Given the description of an element on the screen output the (x, y) to click on. 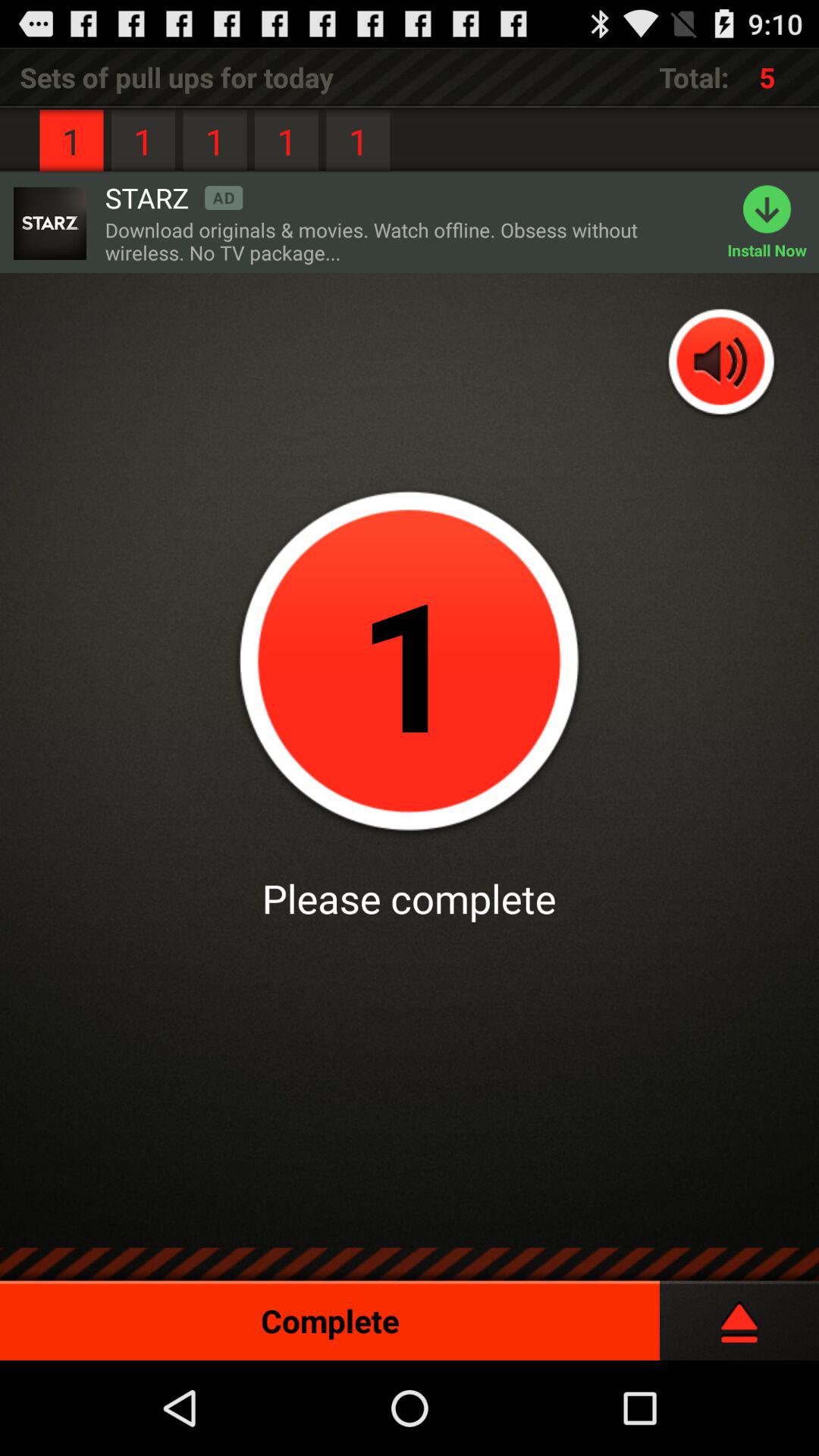
launch the app to the left of the starz icon (49, 222)
